Given the description of an element on the screen output the (x, y) to click on. 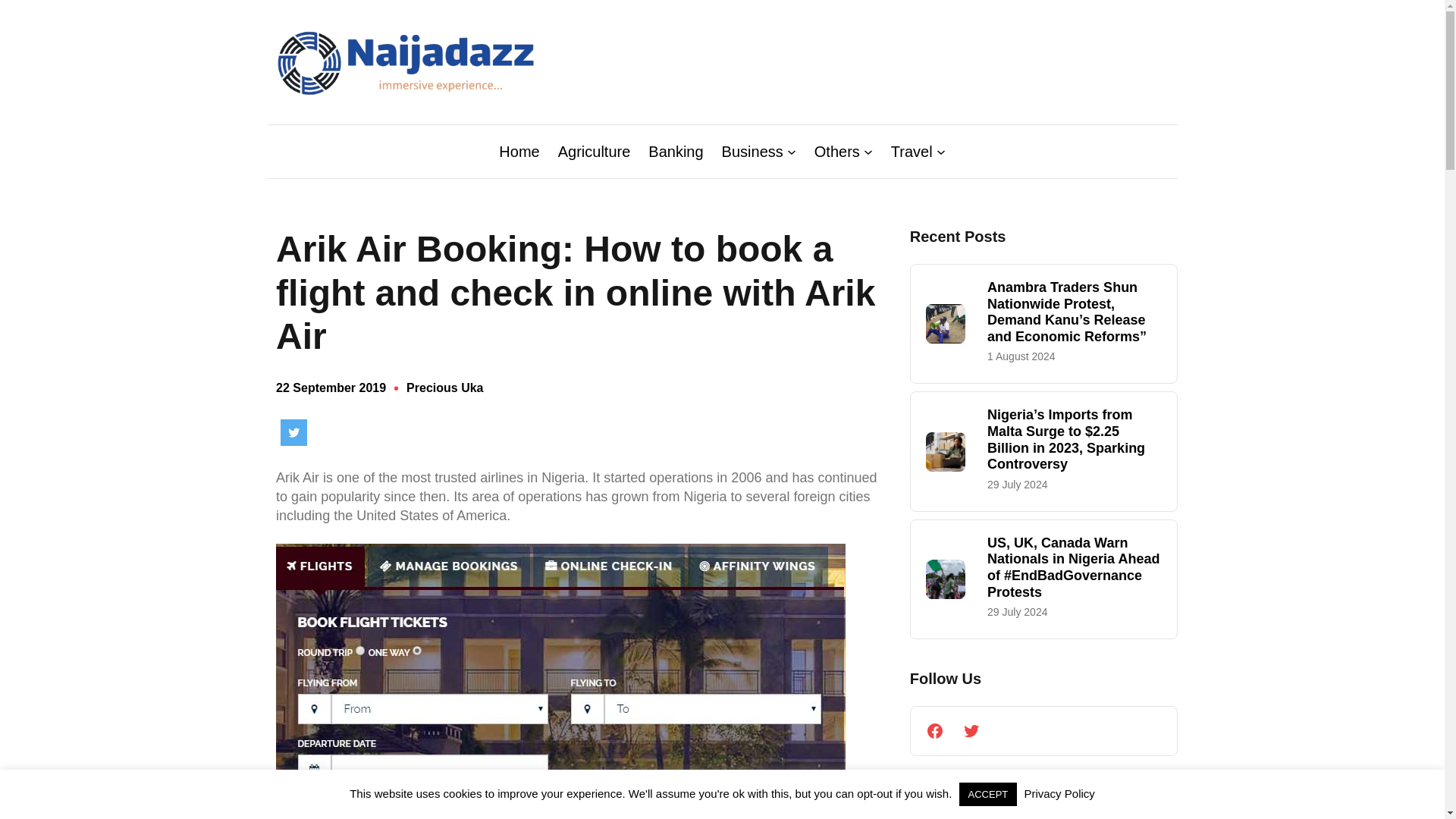
Banking (675, 151)
Twitter (294, 432)
Precious Uka (444, 387)
Agriculture (593, 151)
Business (752, 151)
Home (518, 151)
Travel (912, 151)
Others (836, 151)
